Given the description of an element on the screen output the (x, y) to click on. 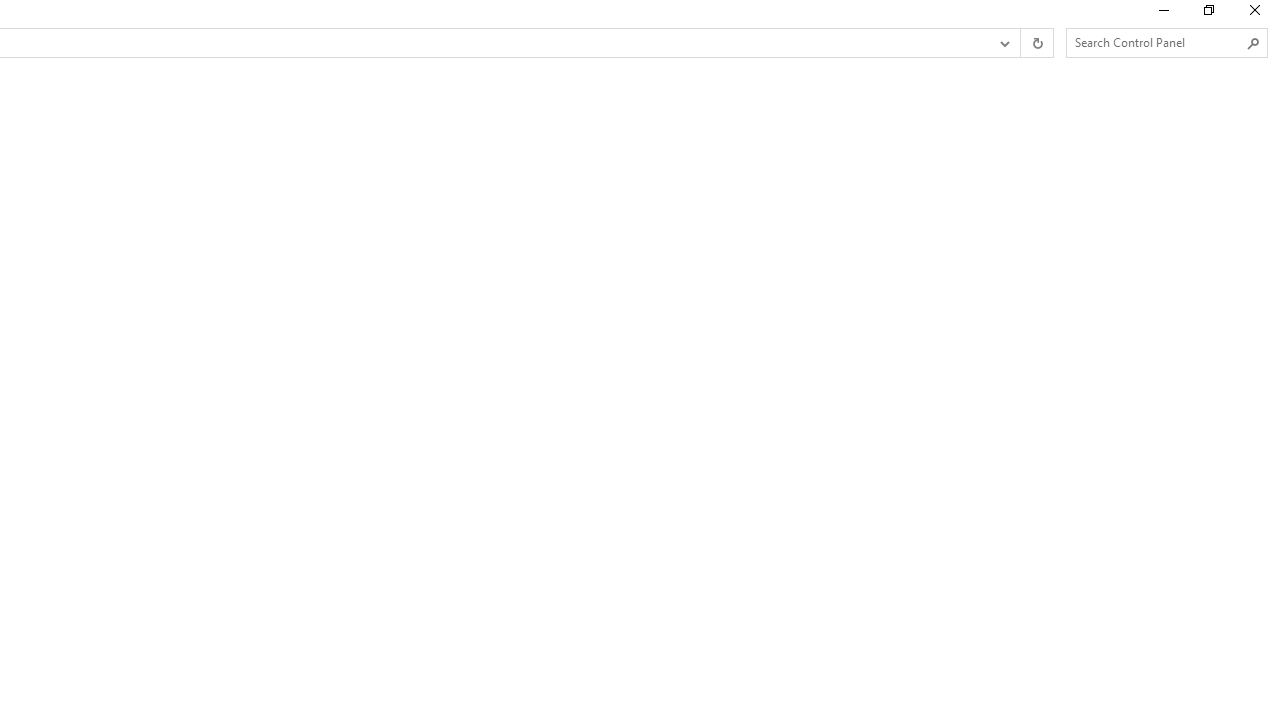
Search (1253, 43)
Previous Locations (1003, 43)
Minimize (1162, 14)
Restore (1208, 14)
Search Box (1156, 42)
Refresh "Work Folders" (F5) (1036, 43)
Address band toolbar (1019, 43)
